Given the description of an element on the screen output the (x, y) to click on. 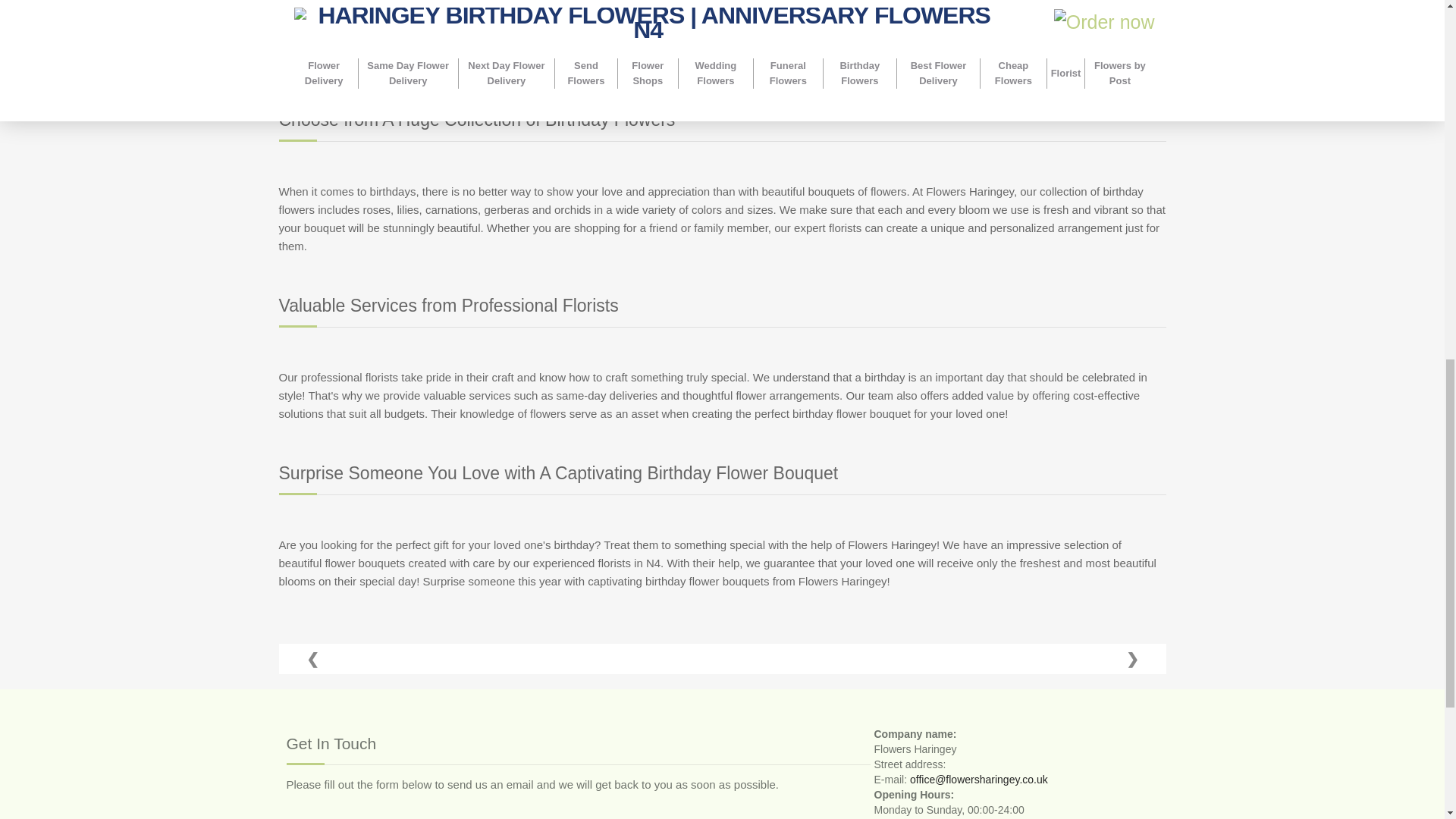
Send E-mail (979, 779)
